Given the description of an element on the screen output the (x, y) to click on. 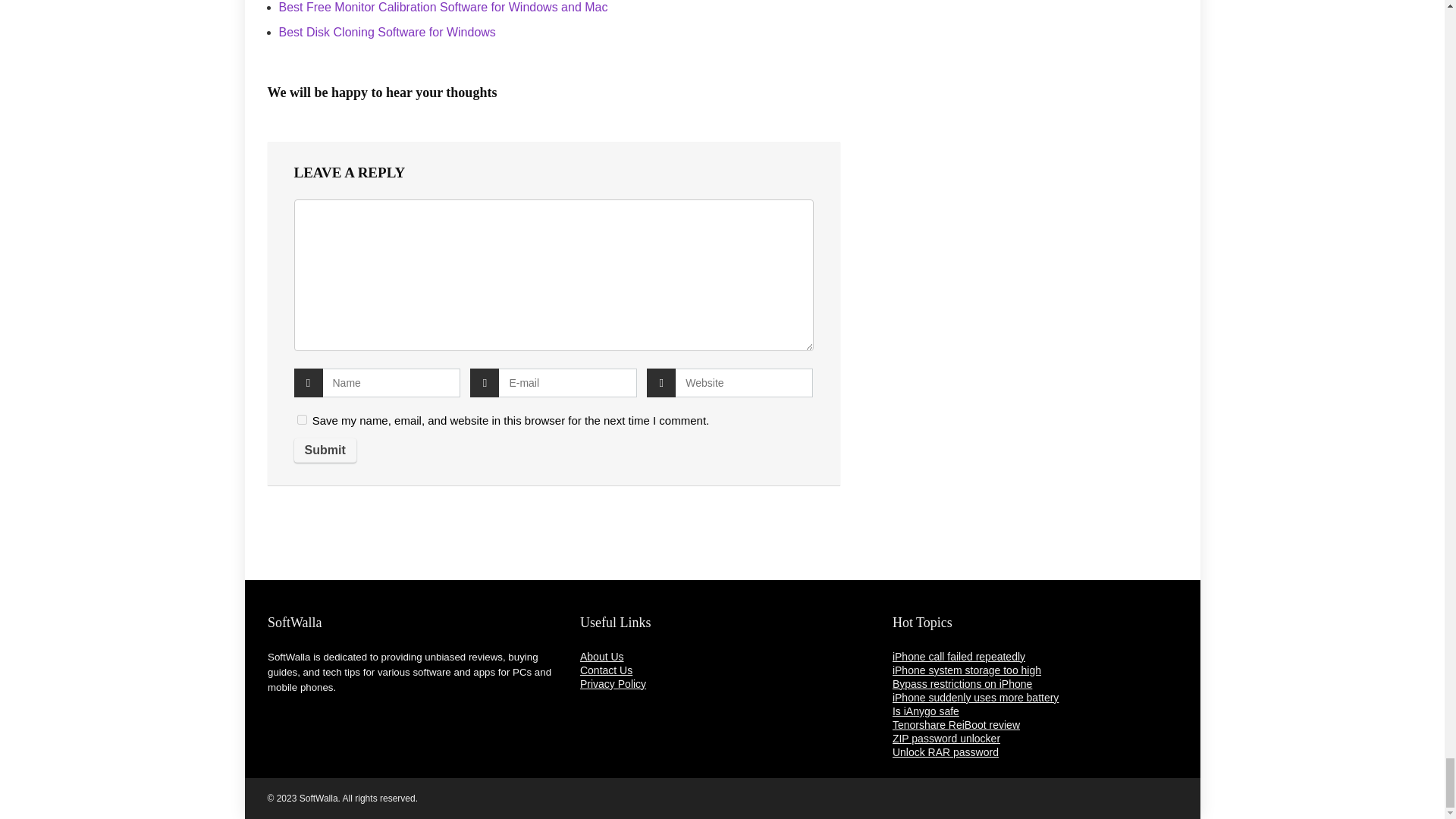
Best Disk Cloning Software for Windows (387, 31)
Best Free Monitor Calibration Software for Windows and Mac (443, 6)
yes (302, 419)
Submit (325, 450)
